Given the description of an element on the screen output the (x, y) to click on. 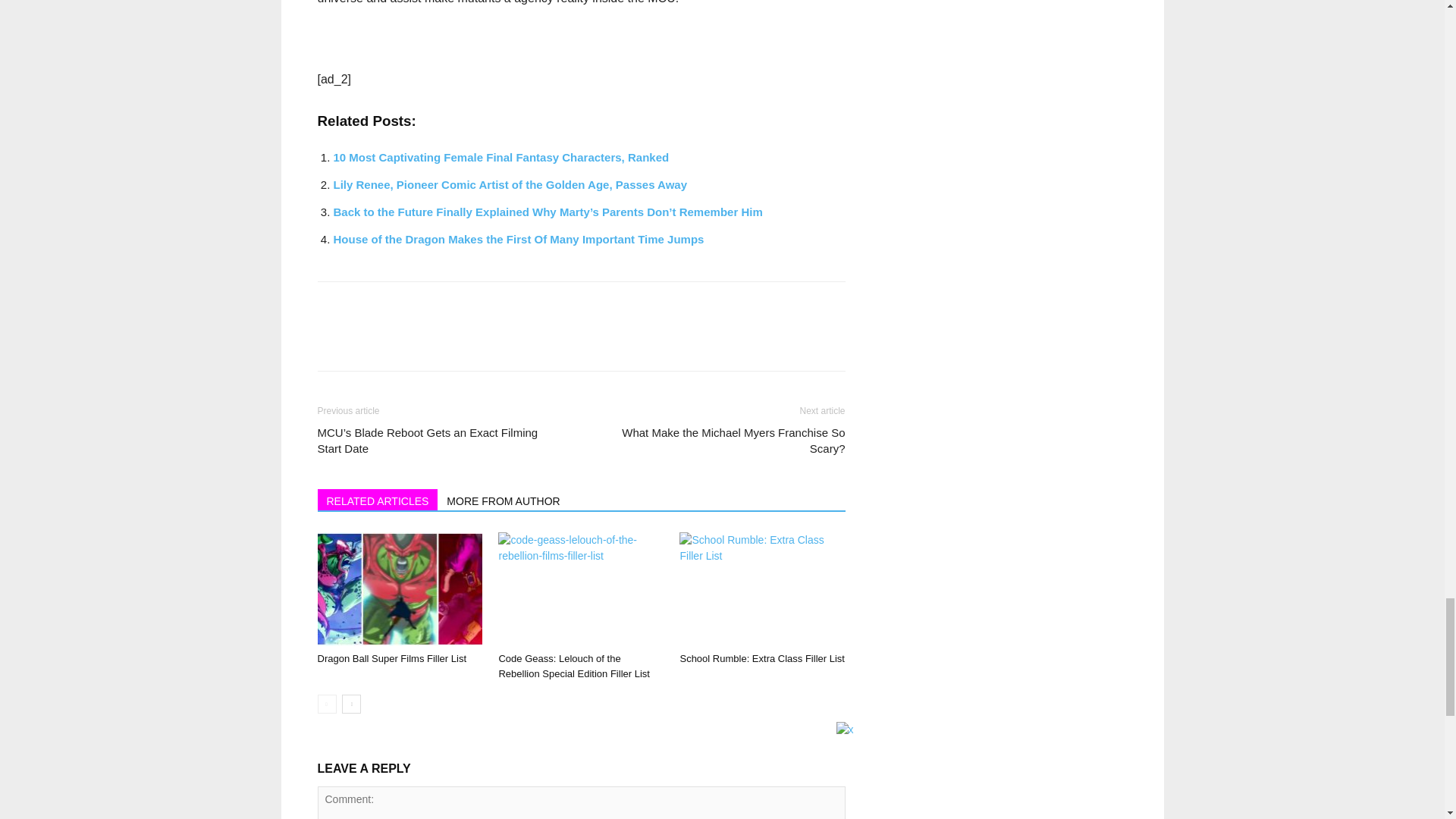
RELATED ARTICLES (377, 499)
MORE FROM AUTHOR (503, 499)
bottomFacebookLike (430, 305)
10 Most Captivating Female Final Fantasy Characters, Ranked (501, 156)
Dragon Ball Super Films Filler List (391, 658)
What Make the Michael Myers Franchise So Scary? (721, 440)
10 Most Captivating Female Final Fantasy Characters, Ranked (501, 156)
